Given the description of an element on the screen output the (x, y) to click on. 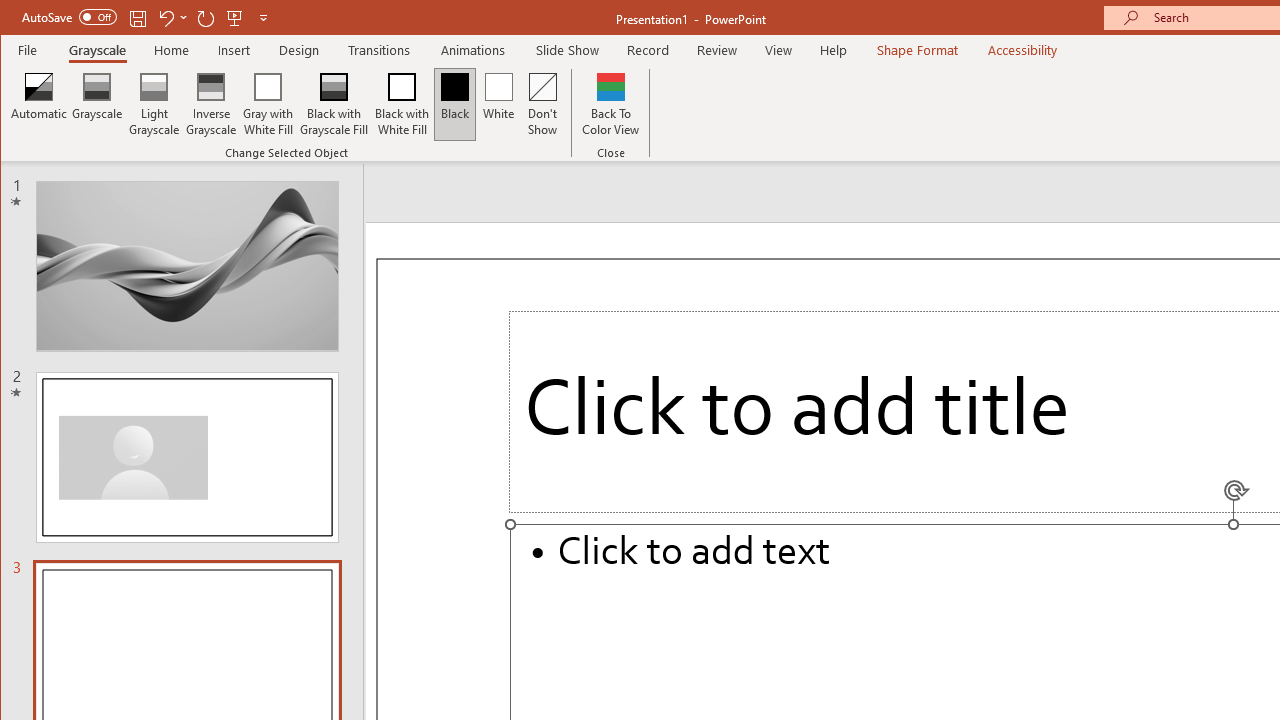
White (498, 104)
Back To Color View (610, 104)
Gray with White Fill (267, 104)
Inverse Grayscale (211, 104)
